Given the description of an element on the screen output the (x, y) to click on. 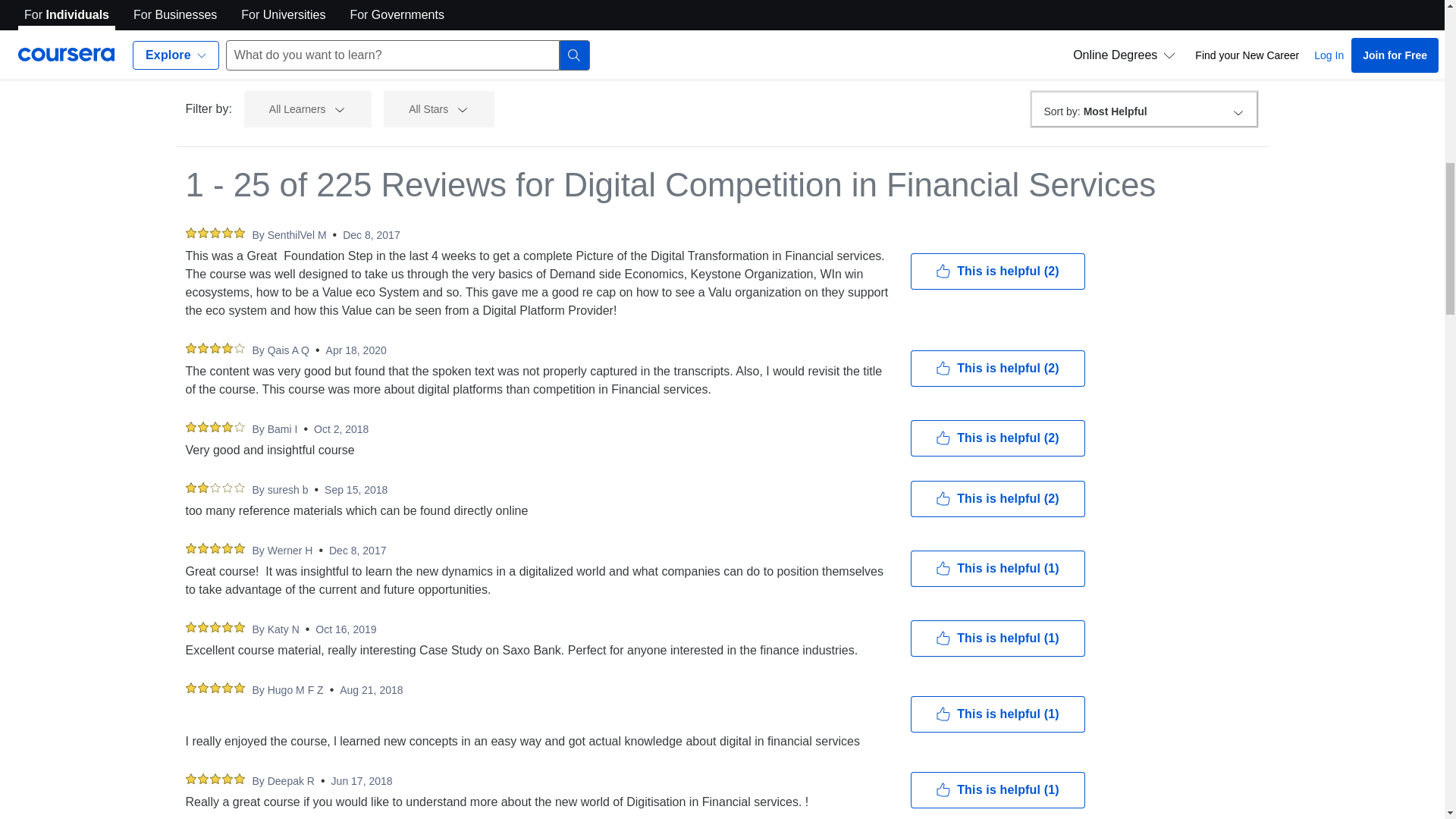
All Learners (307, 108)
All Stars (439, 108)
See all 5 star reviews (251, 43)
